Given the description of an element on the screen output the (x, y) to click on. 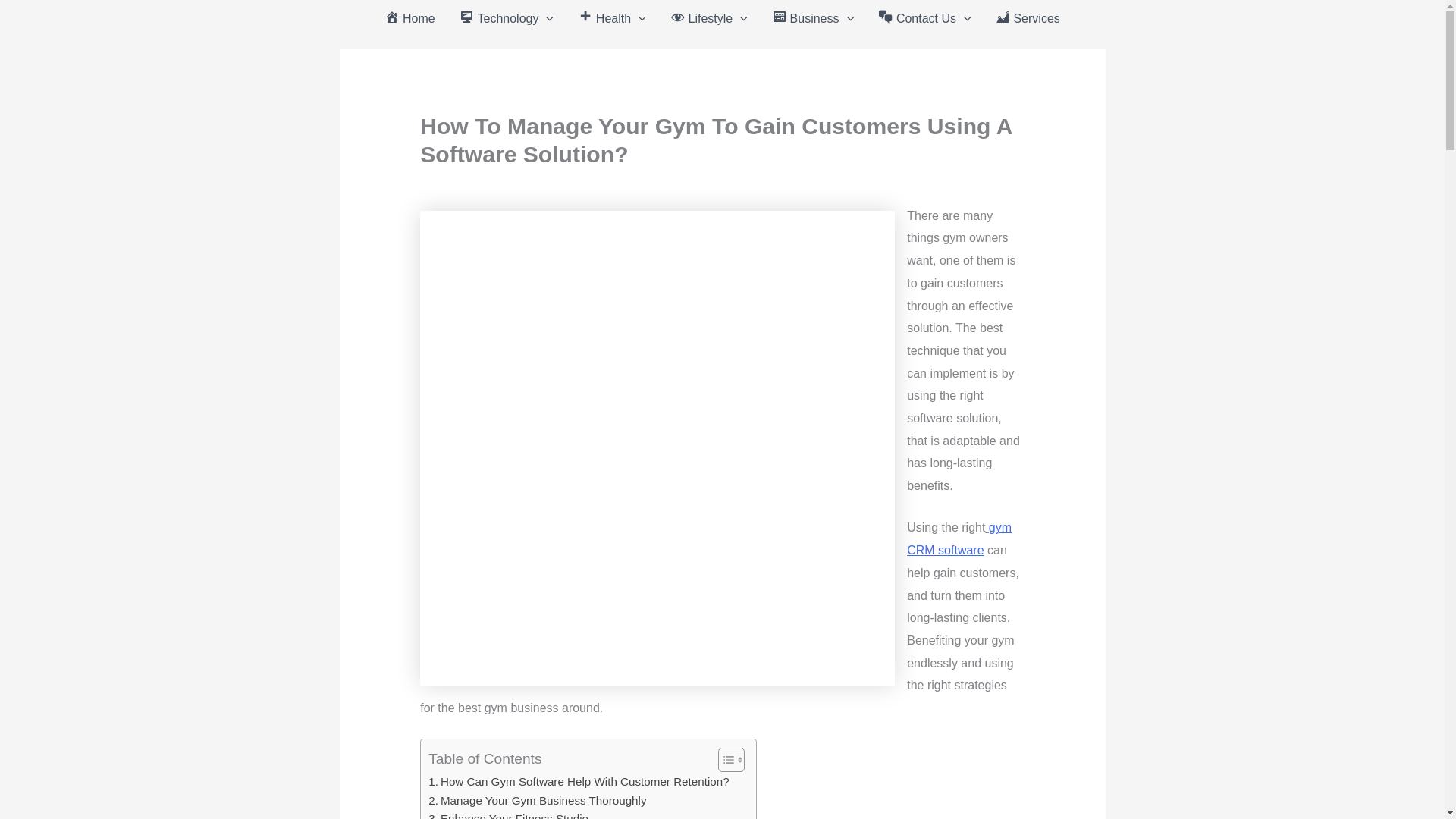
Technology (506, 18)
Contact Us (925, 18)
Home (409, 18)
Lifestyle (709, 18)
How Can Gym Software Help With Customer Retention? (578, 782)
Services (1027, 18)
Business (813, 18)
Health (612, 18)
Manage Your Gym Business Thoroughly (537, 800)
Enhance Your Fitness Studio (508, 814)
